Given the description of an element on the screen output the (x, y) to click on. 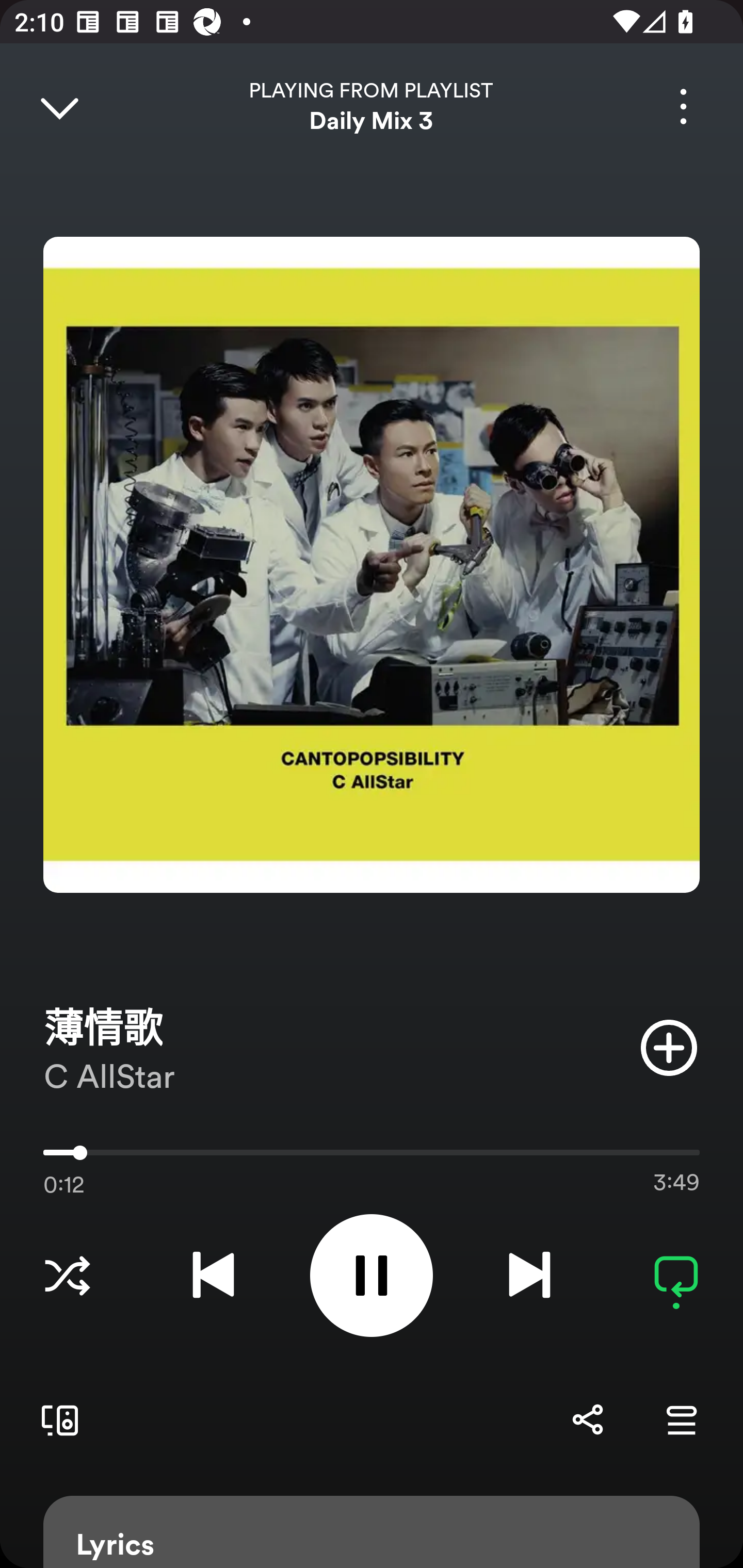
Close (59, 106)
More options for song 薄情歌 (683, 106)
PLAYING FROM PLAYLIST Daily Mix 3 (371, 106)
Add item (669, 1046)
0:12 3:49 12594.0 Use volume keys to adjust (371, 1157)
Pause (371, 1275)
Previous (212, 1275)
Next (529, 1275)
Choose a Listening Mode (66, 1275)
Repeat (676, 1275)
Share (587, 1419)
Go to Queue (681, 1419)
Connect to a device. Opens the devices menu (55, 1419)
Lyrics (371, 1531)
